Given the description of an element on the screen output the (x, y) to click on. 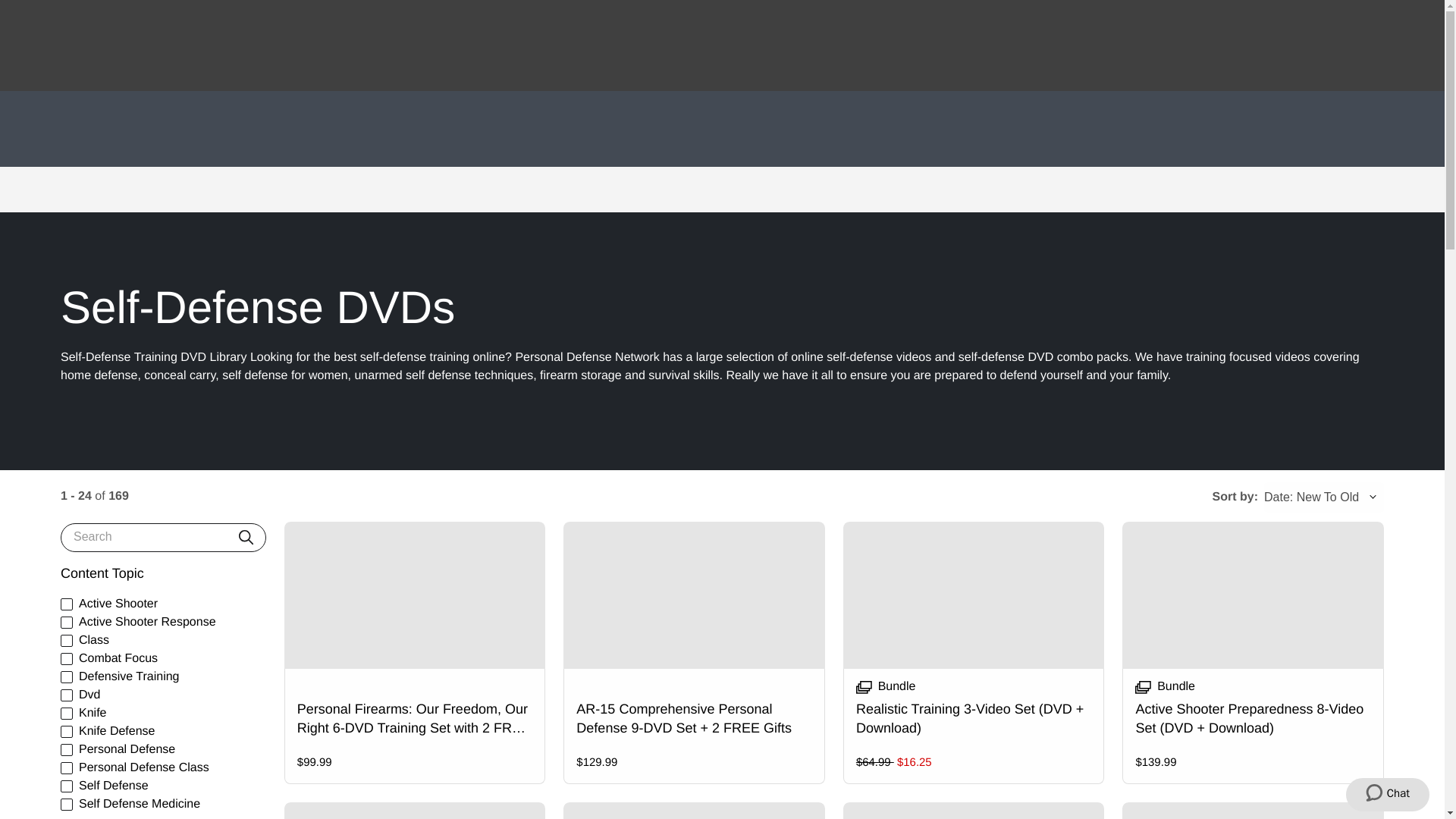
tag:active-shooter (66, 604)
tag:knife (66, 713)
tag:class (66, 640)
tag:dvd (66, 695)
tag:personal-defense (66, 749)
tag:personal-defense-class (66, 767)
Search (245, 537)
tag:self-defense (66, 786)
tag:active-shooter-response (66, 622)
